Given the description of an element on the screen output the (x, y) to click on. 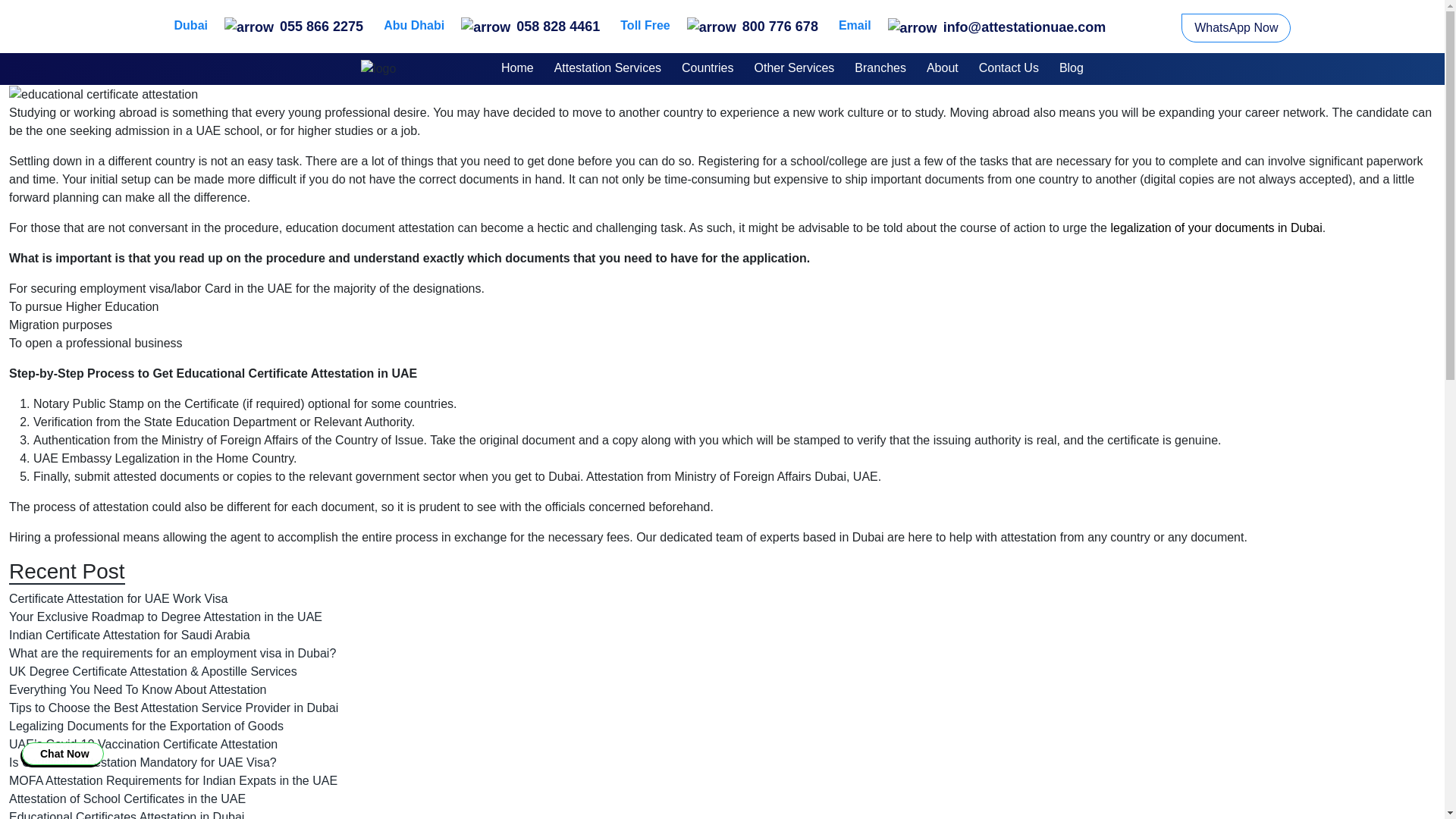
Attestation Services (607, 69)
Home (517, 69)
Dubai (191, 26)
Other Services (794, 69)
Email (854, 26)
Toll Free (644, 26)
Countries (707, 69)
055 866 2275 (293, 23)
WhatsApp Now (1235, 27)
058 828 4461 (530, 23)
